Given the description of an element on the screen output the (x, y) to click on. 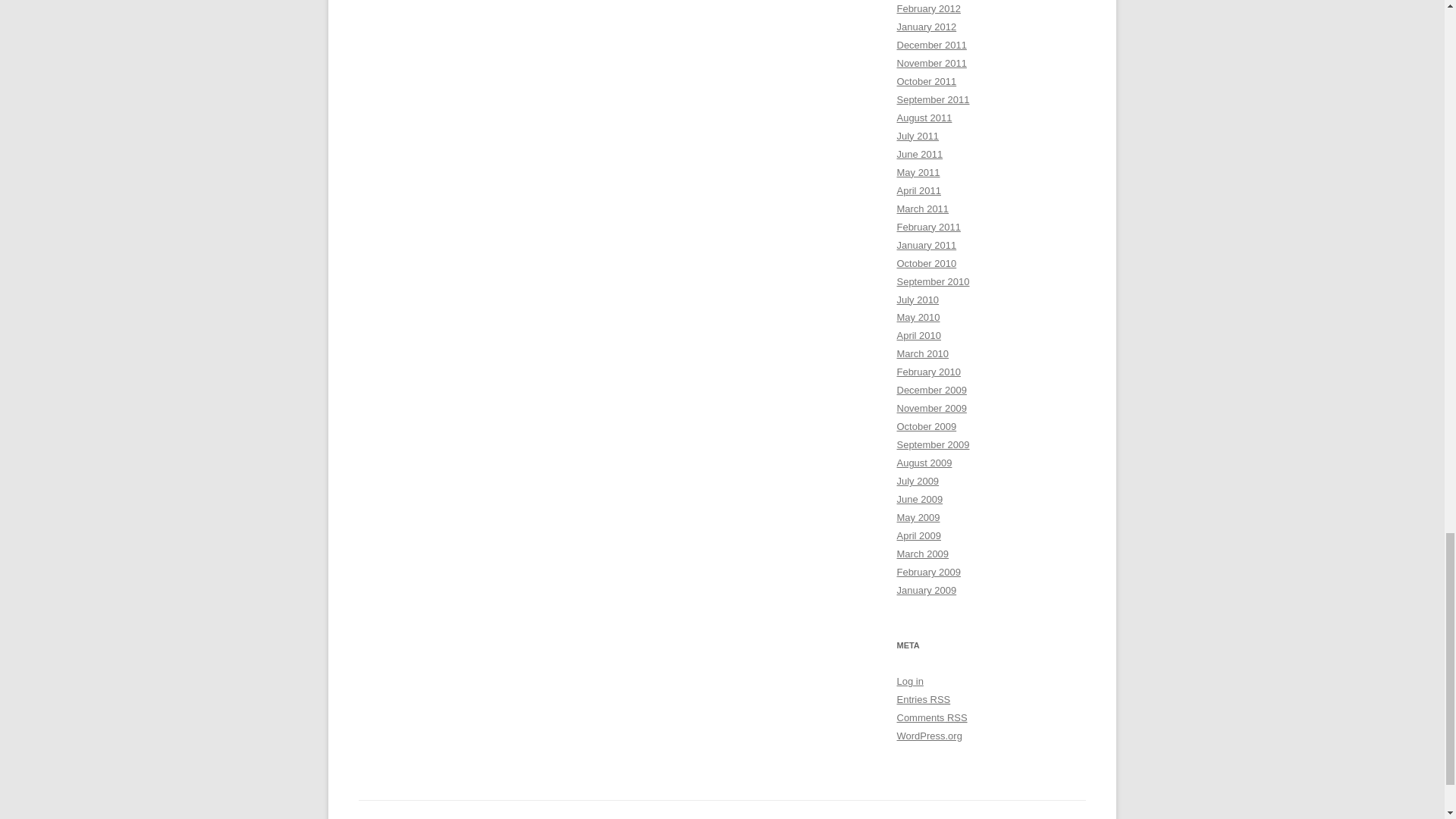
Really Simple Syndication (940, 699)
Really Simple Syndication (957, 717)
